Given the description of an element on the screen output the (x, y) to click on. 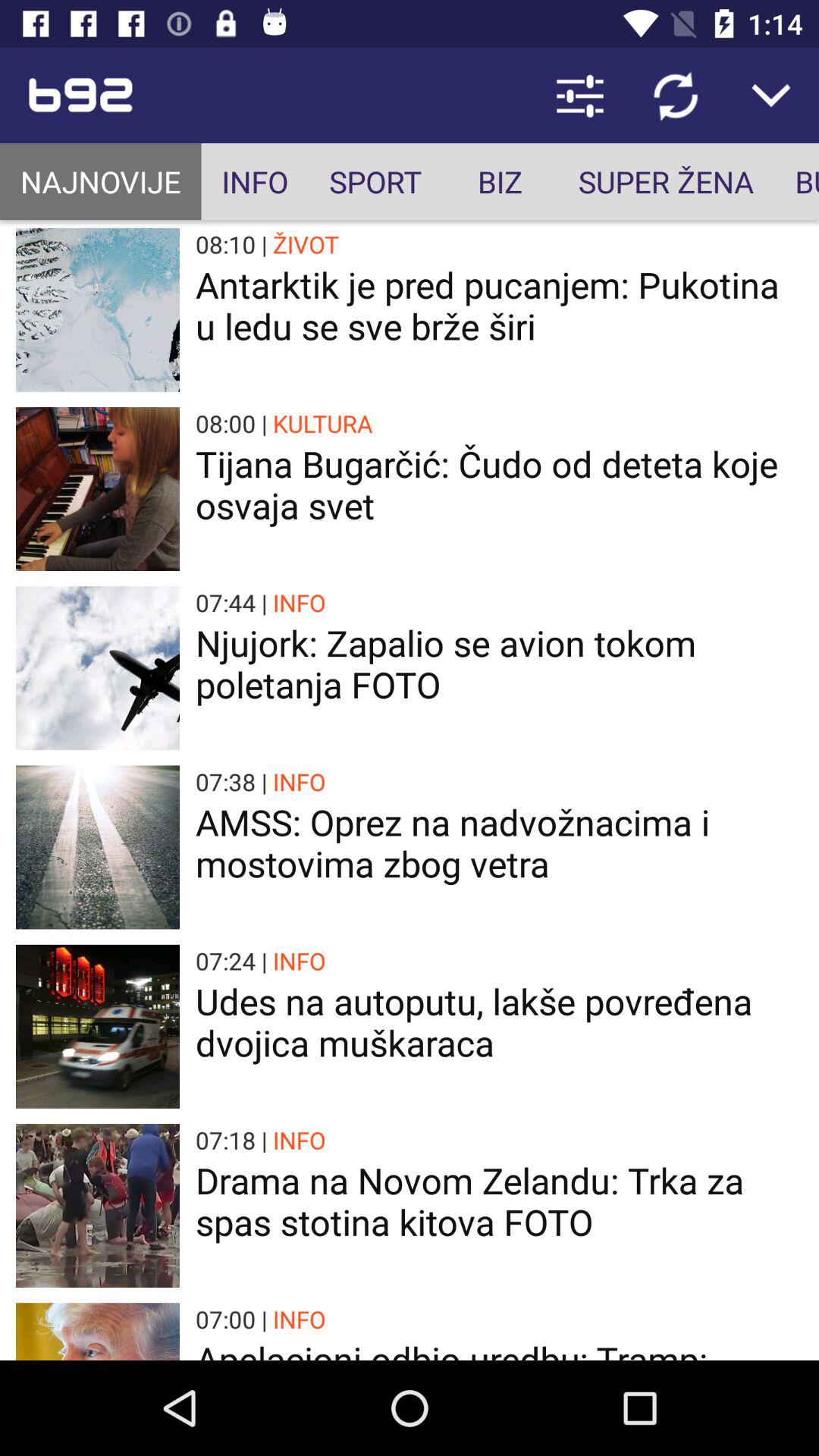
choose the bulevar icon (796, 181)
